Given the description of an element on the screen output the (x, y) to click on. 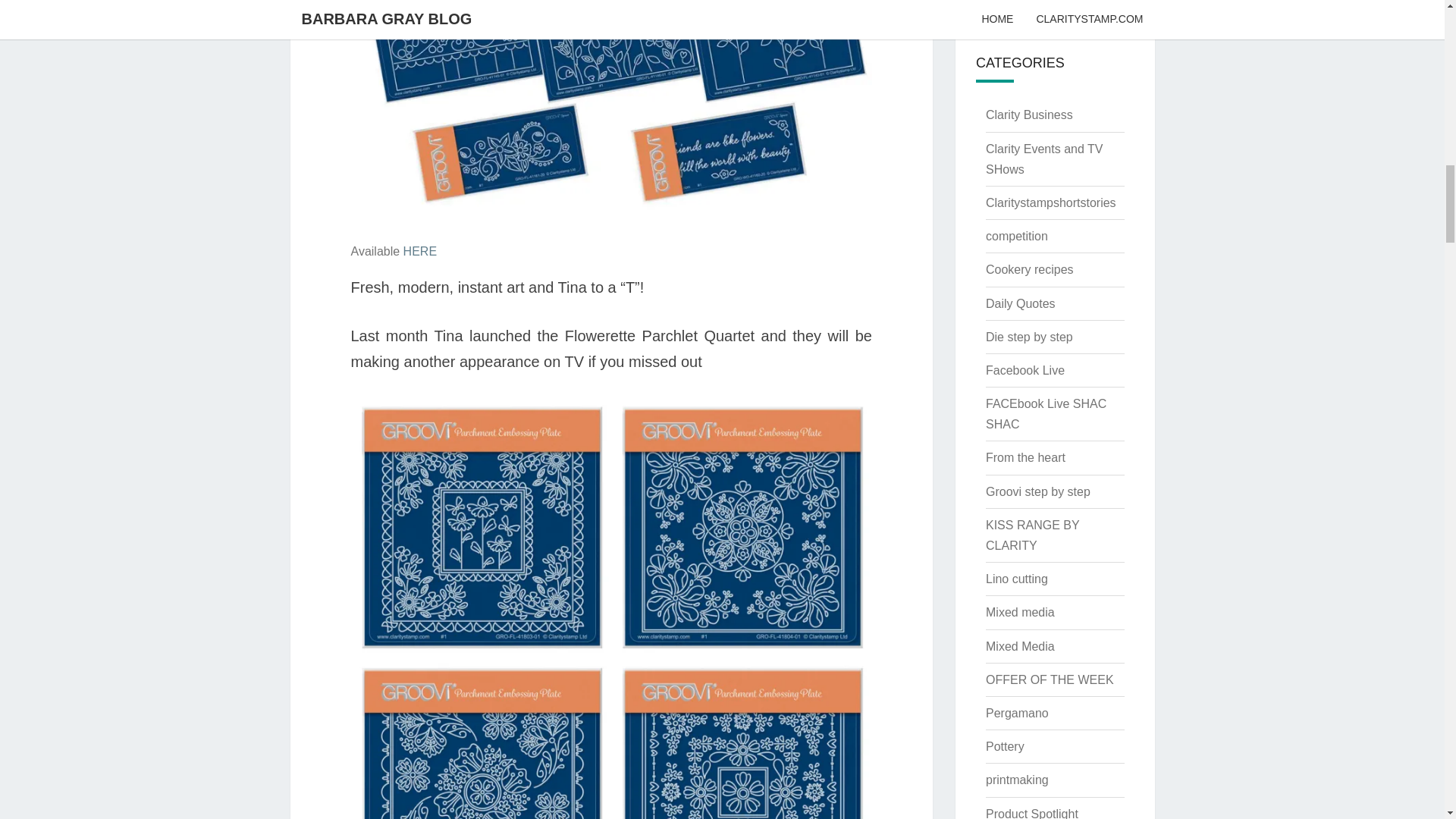
competition (1016, 236)
Clarity Events and TV SHows (1043, 159)
Cookery recipes (1029, 269)
Claritystampshortstories (1050, 202)
Clarity Business (1029, 114)
HERE (419, 250)
